Given the description of an element on the screen output the (x, y) to click on. 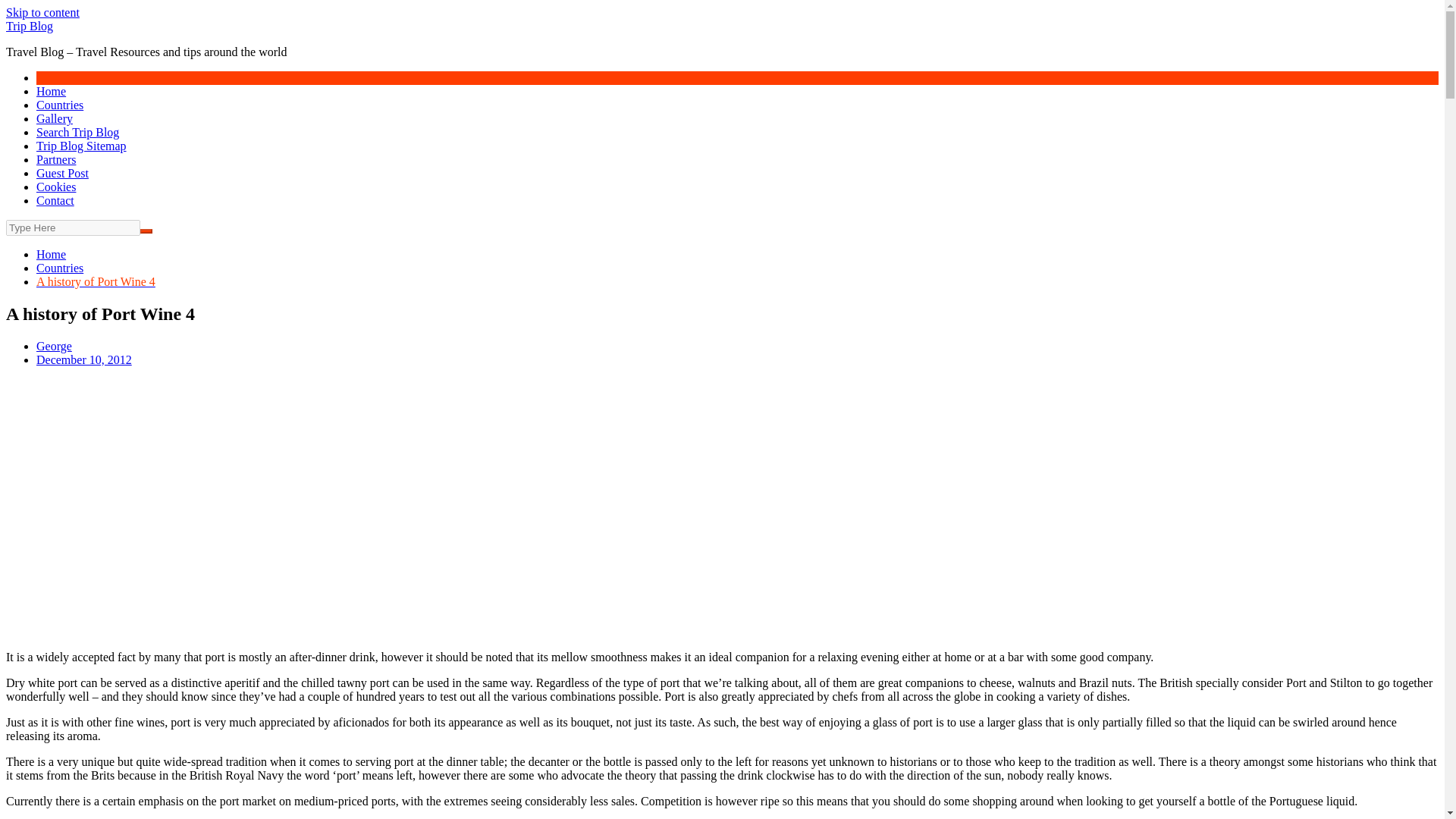
Gallery (54, 118)
A history of Port Wine 4 (95, 281)
George (53, 345)
Countries (59, 104)
Partners (55, 159)
Skip to content (42, 11)
Home (50, 254)
Cookies (55, 186)
Contact (55, 200)
December 10, 2012 (84, 359)
Trip Blog Sitemap (81, 145)
Search Trip Blog (77, 132)
Countries (59, 267)
Home (50, 91)
Guest Post (62, 173)
